Given the description of an element on the screen output the (x, y) to click on. 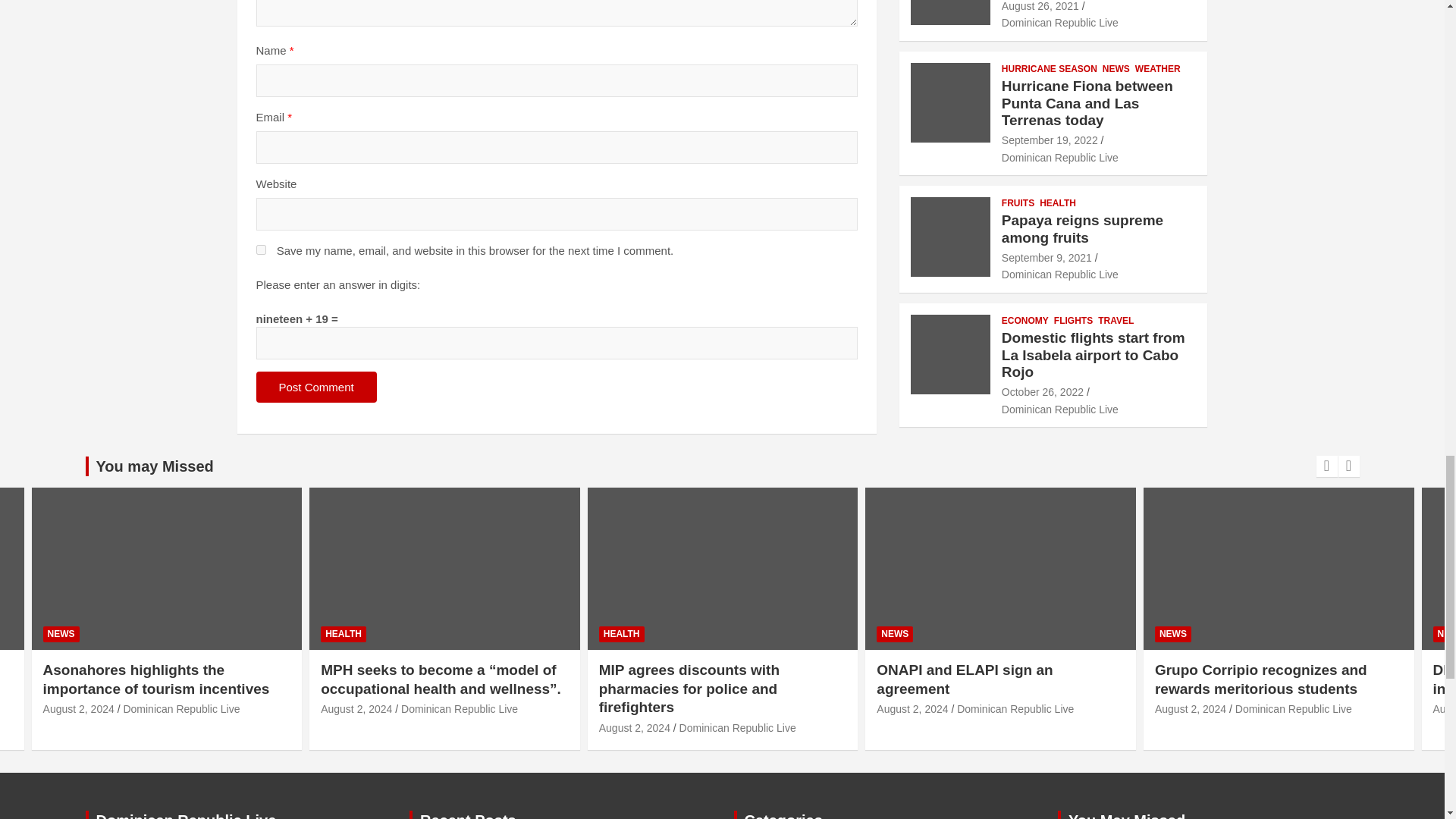
yes (261, 249)
Post Comment (316, 386)
Sky Cana to link New York with AILA and Cibao (1039, 6)
Papaya reigns supreme among fruits (1046, 257)
Domestic flights start from La Isabela airport to Cabo Rojo (1042, 391)
Hurricane Fiona between Punta Cana and Las Terrenas today (1049, 140)
Post Comment (316, 386)
